Given the description of an element on the screen output the (x, y) to click on. 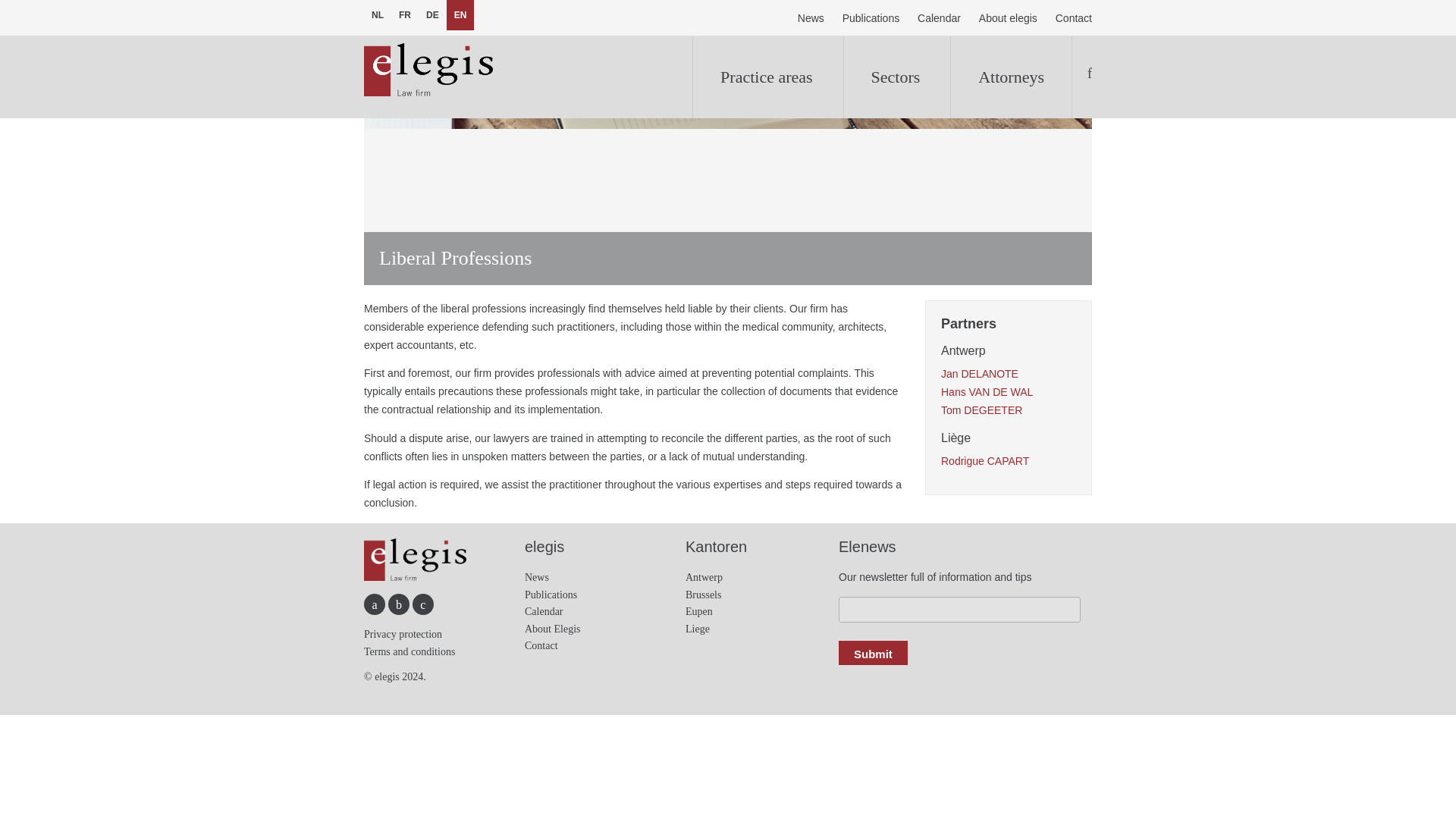
Sectors (896, 76)
Calendar (543, 611)
DE (432, 15)
Rodrigue CAPART (984, 460)
Privacy protection (403, 633)
Liege (697, 628)
Contact (540, 645)
Antwerp (703, 577)
Calendar (939, 19)
Contact (1070, 19)
